Given the description of an element on the screen output the (x, y) to click on. 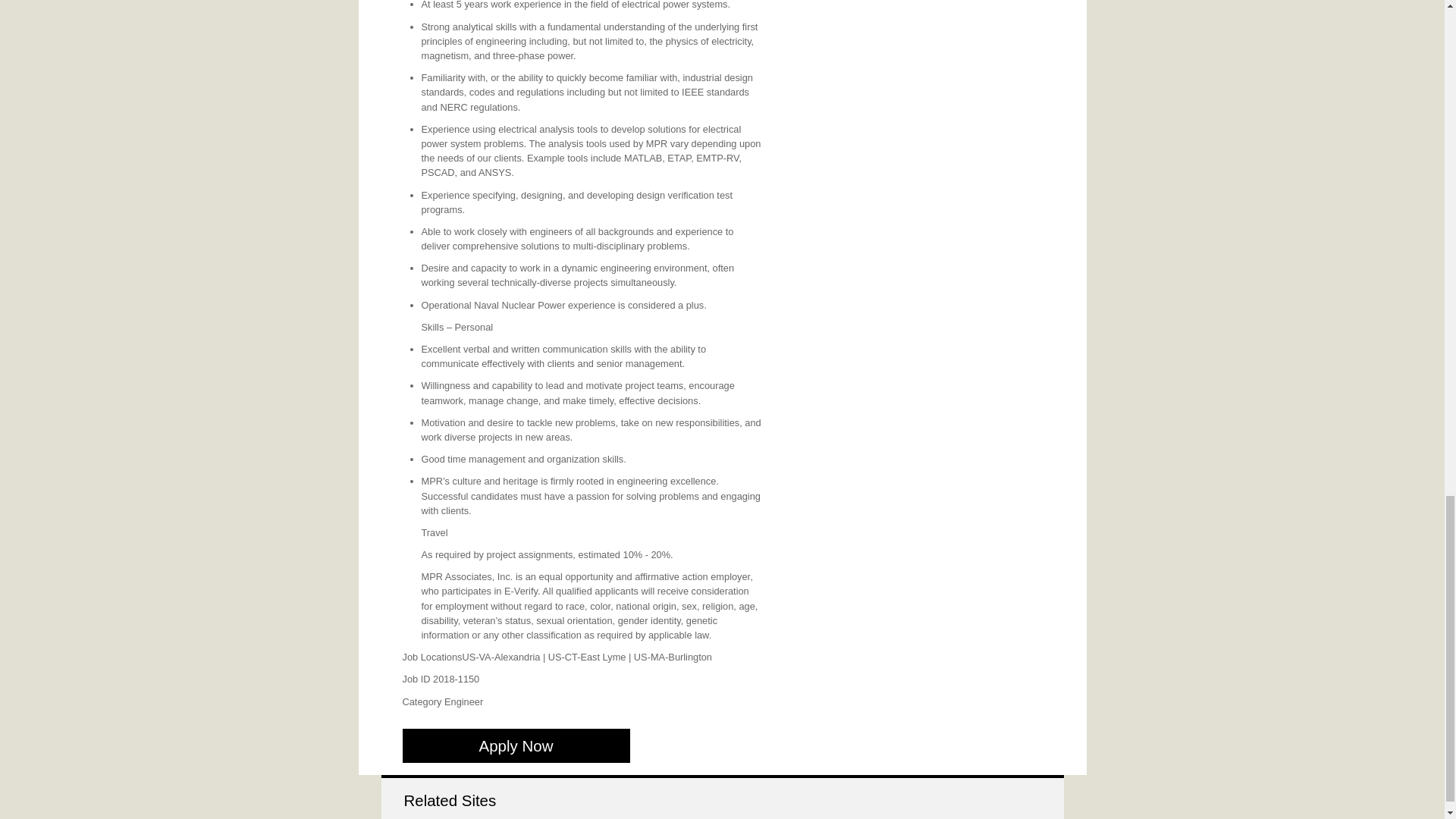
Apply Now (514, 745)
